Given the description of an element on the screen output the (x, y) to click on. 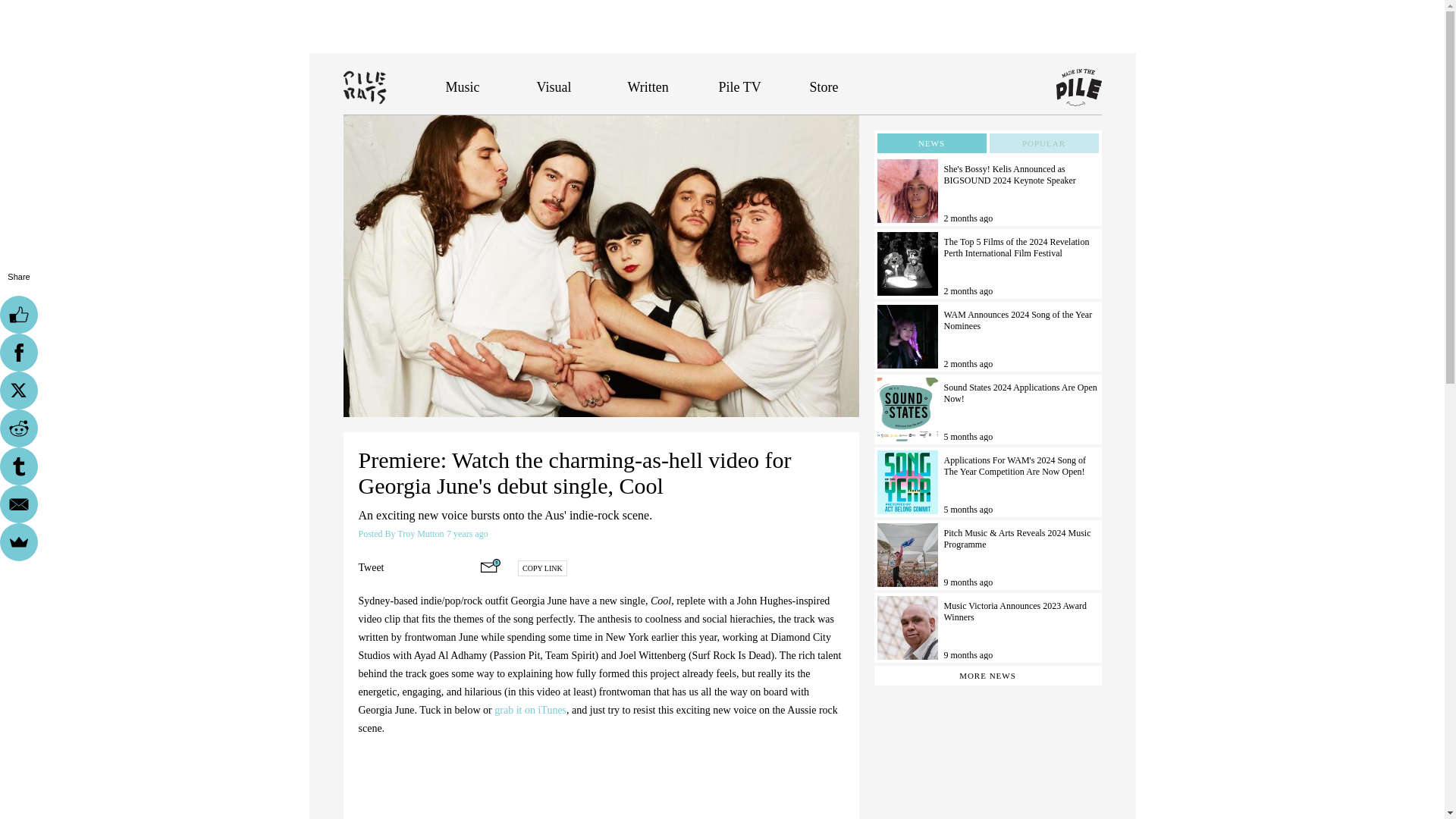
Written (647, 86)
Home (393, 86)
Visual (554, 86)
Share via email (490, 565)
Music (462, 86)
Made In The Pile (1077, 87)
Written (647, 86)
Visual (554, 86)
Music (462, 86)
Made In The Pile (1077, 87)
Pile TV (740, 86)
Pile TV (740, 86)
